Given the description of an element on the screen output the (x, y) to click on. 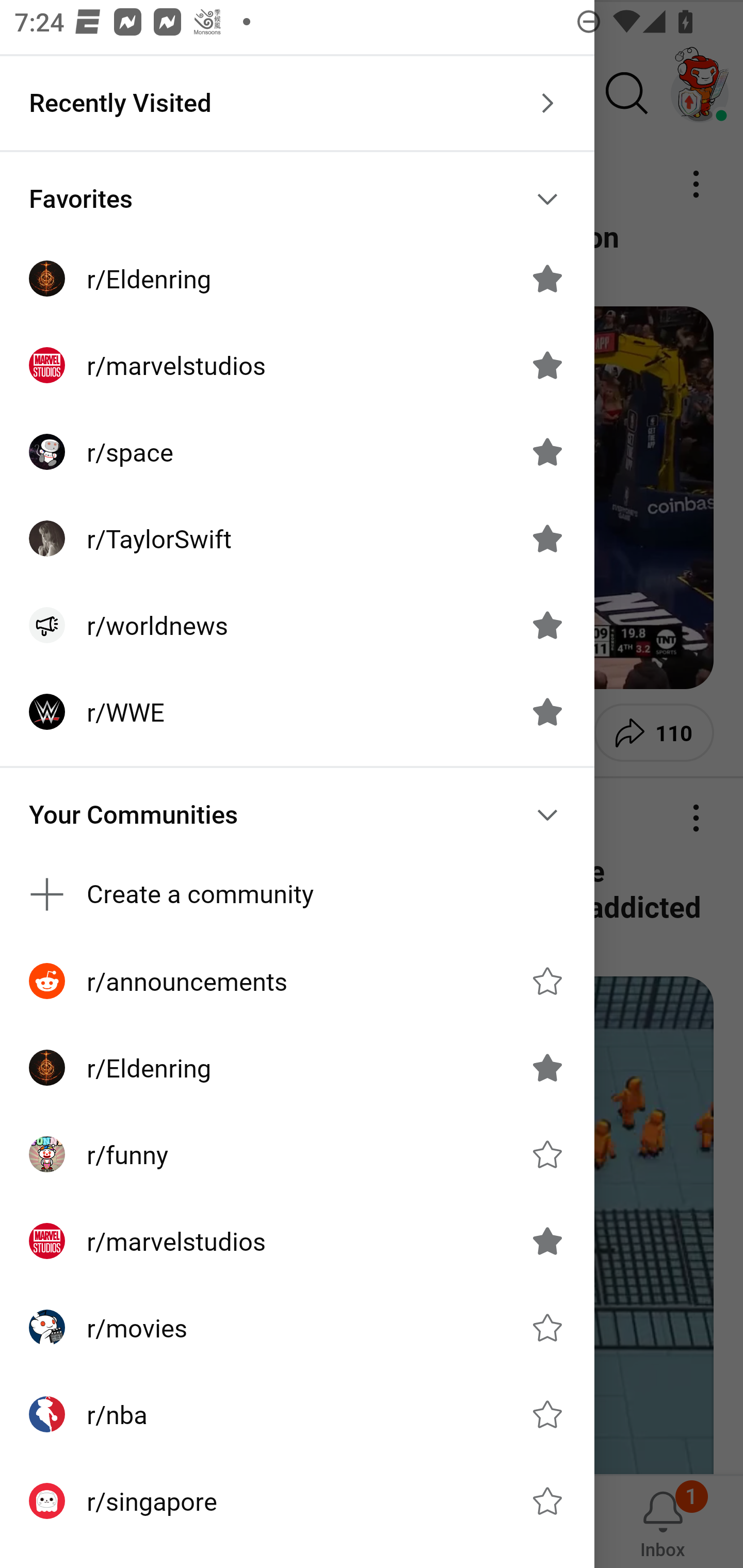
Recently Visited (297, 103)
Favorites (297, 199)
r/Eldenring Unfavorite r/Eldenring (297, 278)
Unfavorite r/Eldenring (546, 278)
r/marvelstudios Unfavorite r/marvelstudios (297, 365)
Unfavorite r/marvelstudios (546, 365)
r/space Unfavorite r/space (297, 452)
Unfavorite r/space (546, 451)
r/TaylorSwift Unfavorite r/TaylorSwift (297, 538)
Unfavorite r/TaylorSwift (546, 538)
r/worldnews Unfavorite r/worldnews (297, 624)
Unfavorite r/worldnews (546, 624)
r/WWE Unfavorite r/WWE (297, 711)
Unfavorite r/WWE (546, 711)
Your Communities (297, 815)
Create a community (297, 894)
r/announcements Favorite r/announcements (297, 980)
Favorite r/announcements (546, 980)
r/Eldenring Unfavorite r/Eldenring (297, 1067)
Unfavorite r/Eldenring (546, 1067)
r/funny Favorite r/funny (297, 1154)
Favorite r/funny (546, 1154)
r/marvelstudios Unfavorite r/marvelstudios (297, 1240)
Unfavorite r/marvelstudios (546, 1241)
r/movies Favorite r/movies (297, 1327)
Favorite r/movies (546, 1327)
r/nba Favorite r/nba (297, 1414)
Favorite r/nba (546, 1414)
r/singapore Favorite r/singapore (297, 1501)
Favorite r/singapore (546, 1501)
